Given the description of an element on the screen output the (x, y) to click on. 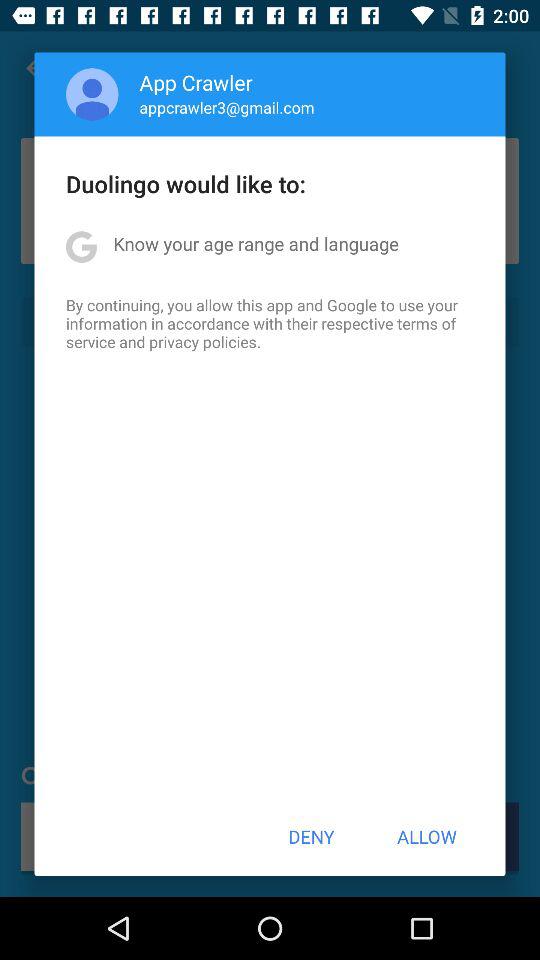
jump to deny (311, 836)
